Given the description of an element on the screen output the (x, y) to click on. 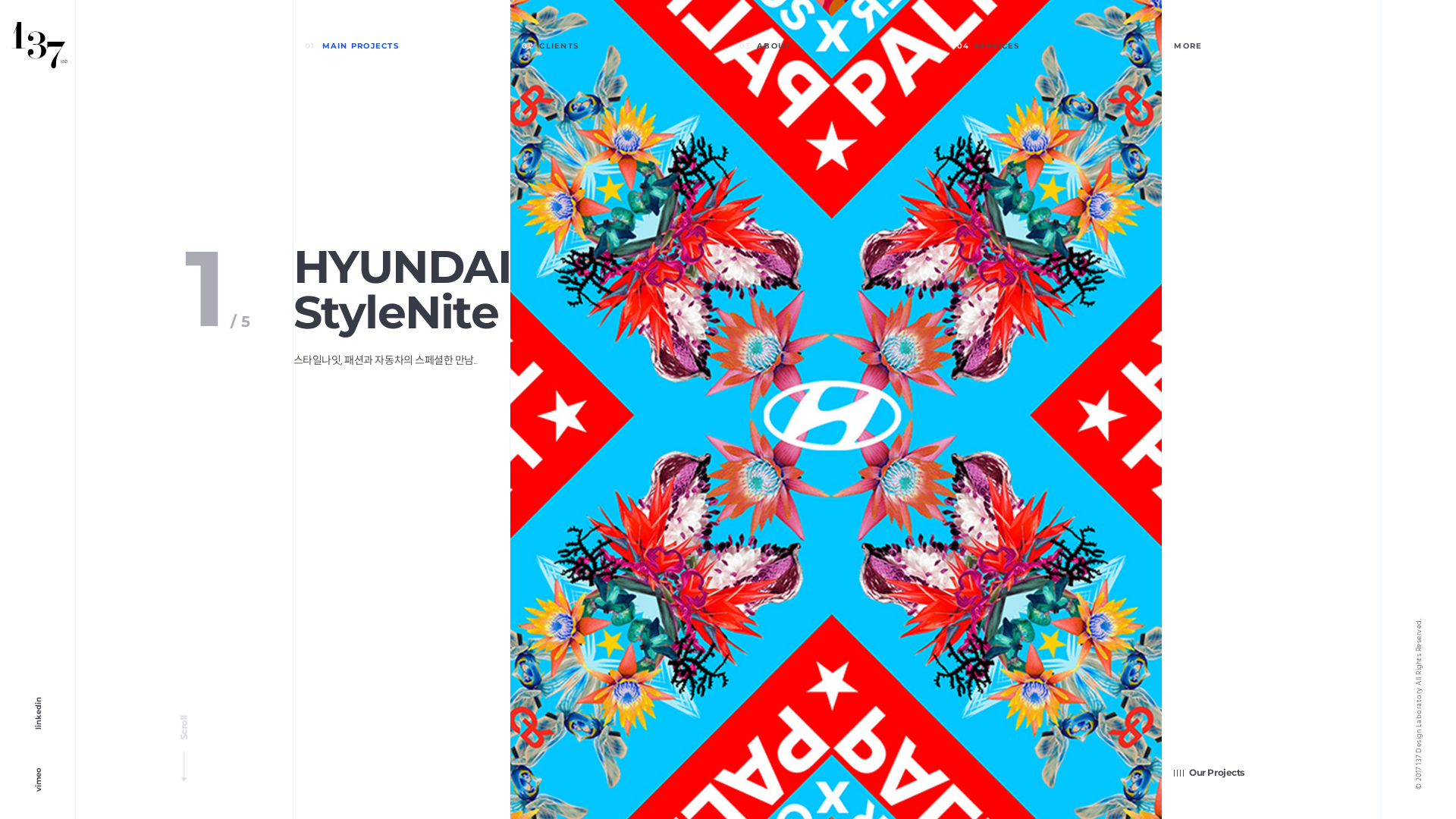
MORE Element type: text (1270, 55)
HYUNDAI StyleNite Element type: text (402, 288)
Our Projects Element type: text (1208, 772)
03
ABOUT Element type: text (836, 46)
04
SERVICES Element type: text (1054, 46)
02
CLIENTS Element type: text (618, 46)
Our Projects Element type: text (1271, 437)
01
MAIN PROJECTS Element type: text (401, 46)
linkedin Element type: text (16, 734)
